Given the description of an element on the screen output the (x, y) to click on. 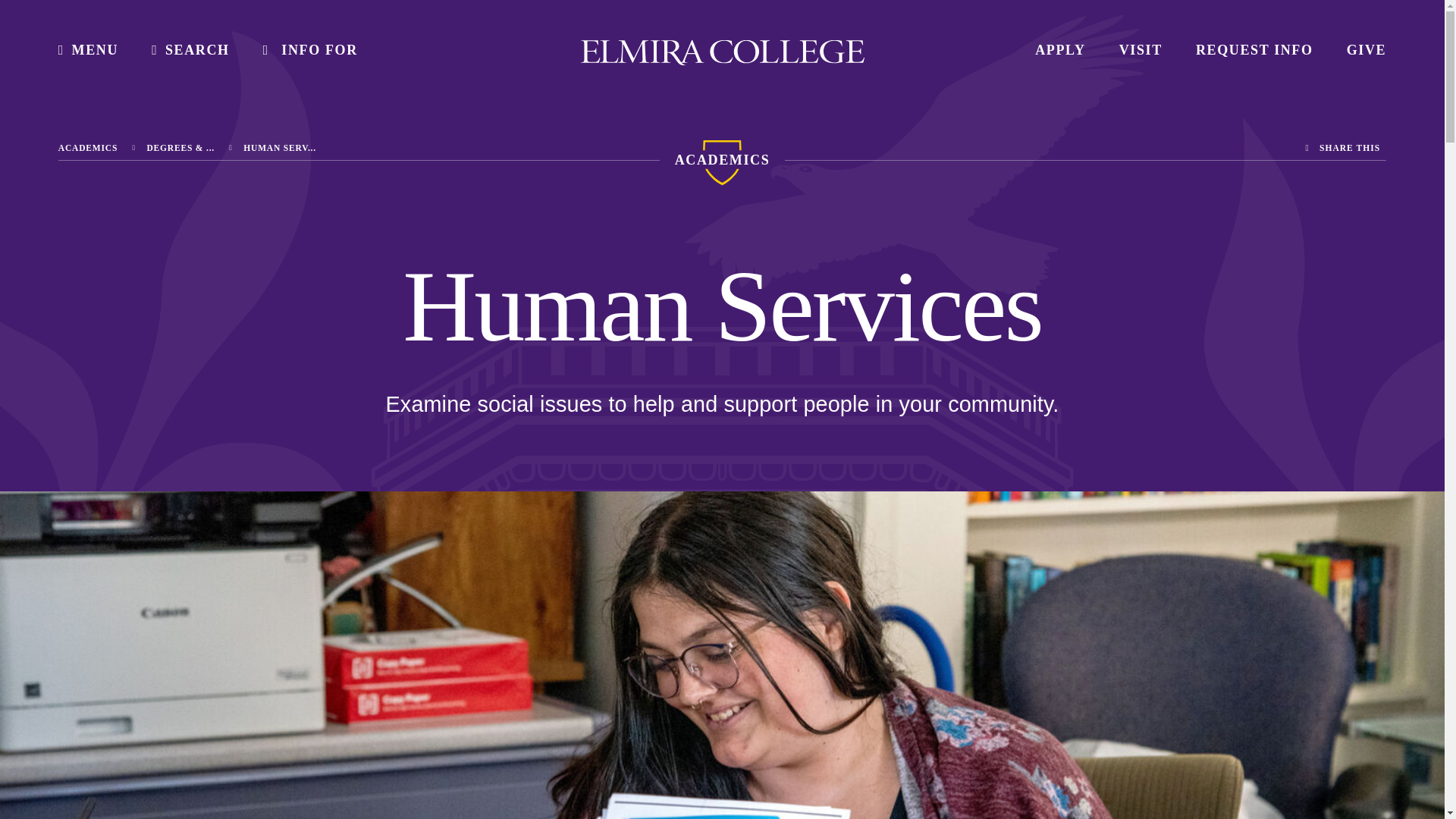
INFO FOR (310, 50)
GIVE (1366, 50)
REQUEST INFO (1254, 50)
VISIT (1140, 50)
APPLY (1059, 50)
MENU (87, 50)
SEARCH (190, 50)
